Given the description of an element on the screen output the (x, y) to click on. 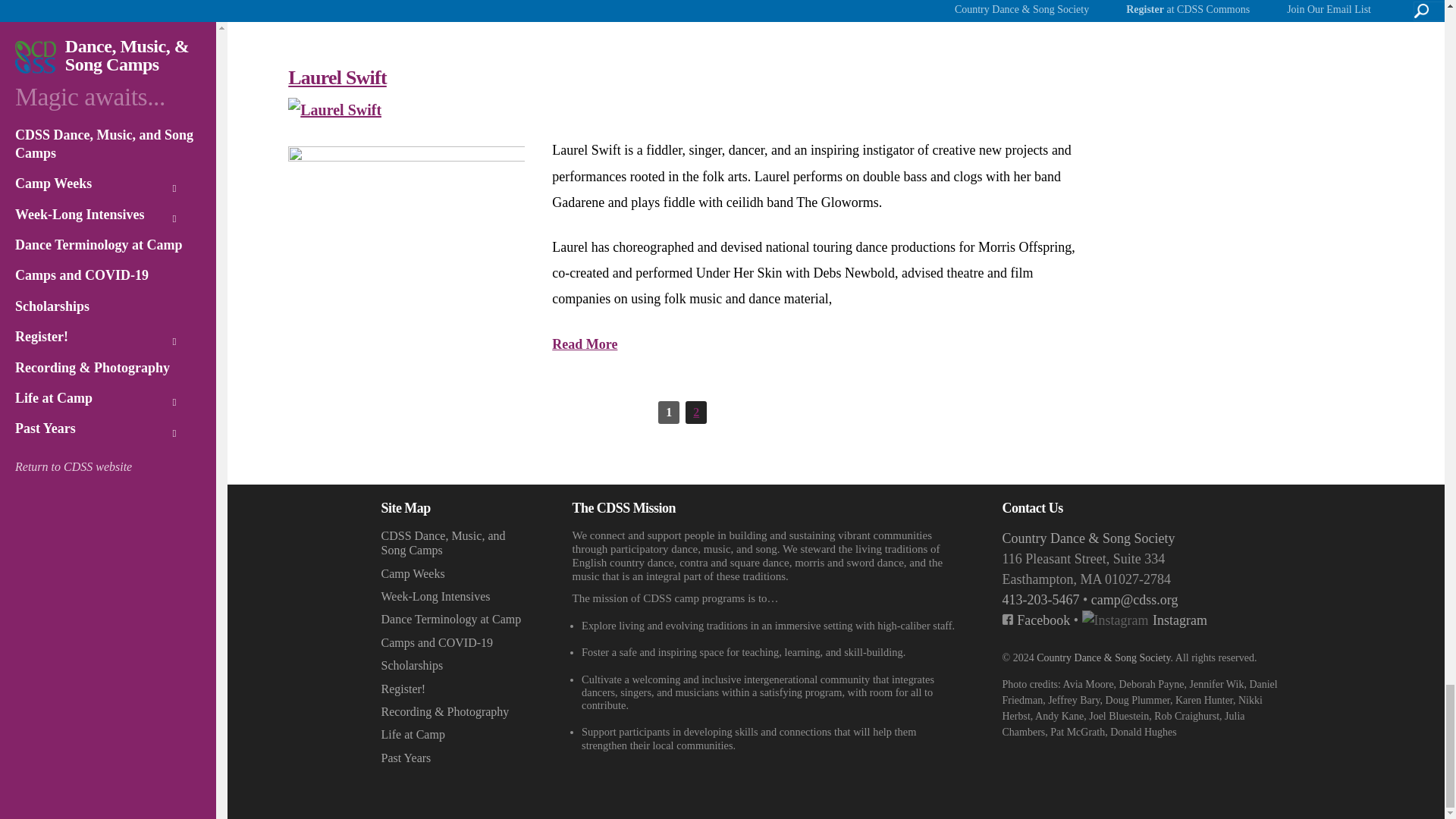
Laurel Swift (334, 109)
